Given the description of an element on the screen output the (x, y) to click on. 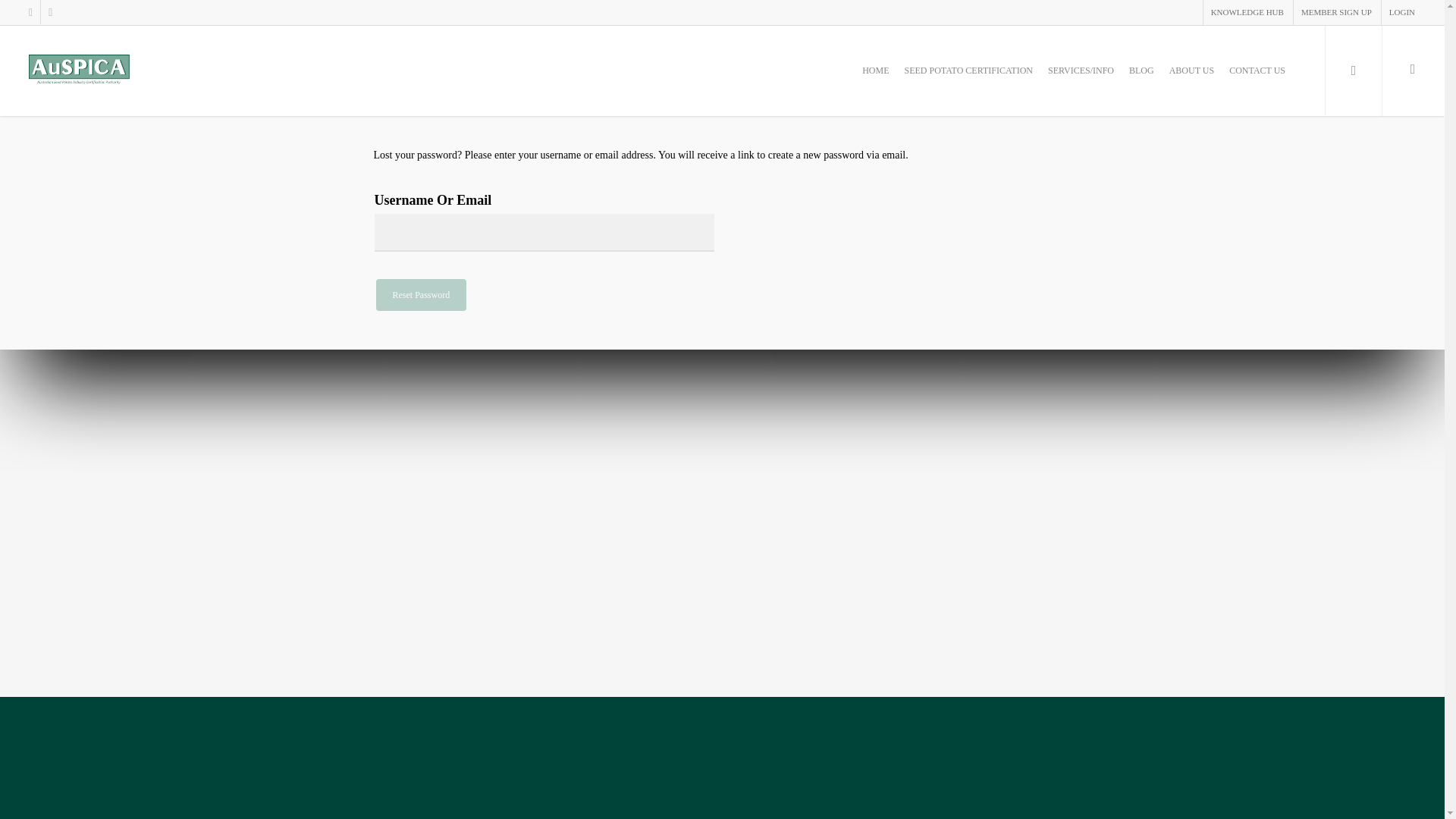
SEED POTATO CERTIFICATION (968, 81)
Reset Password (421, 295)
MEMBER SIGN UP (1335, 12)
LOGIN (1401, 12)
KNOWLEDGE HUB (1246, 12)
